Given the description of an element on the screen output the (x, y) to click on. 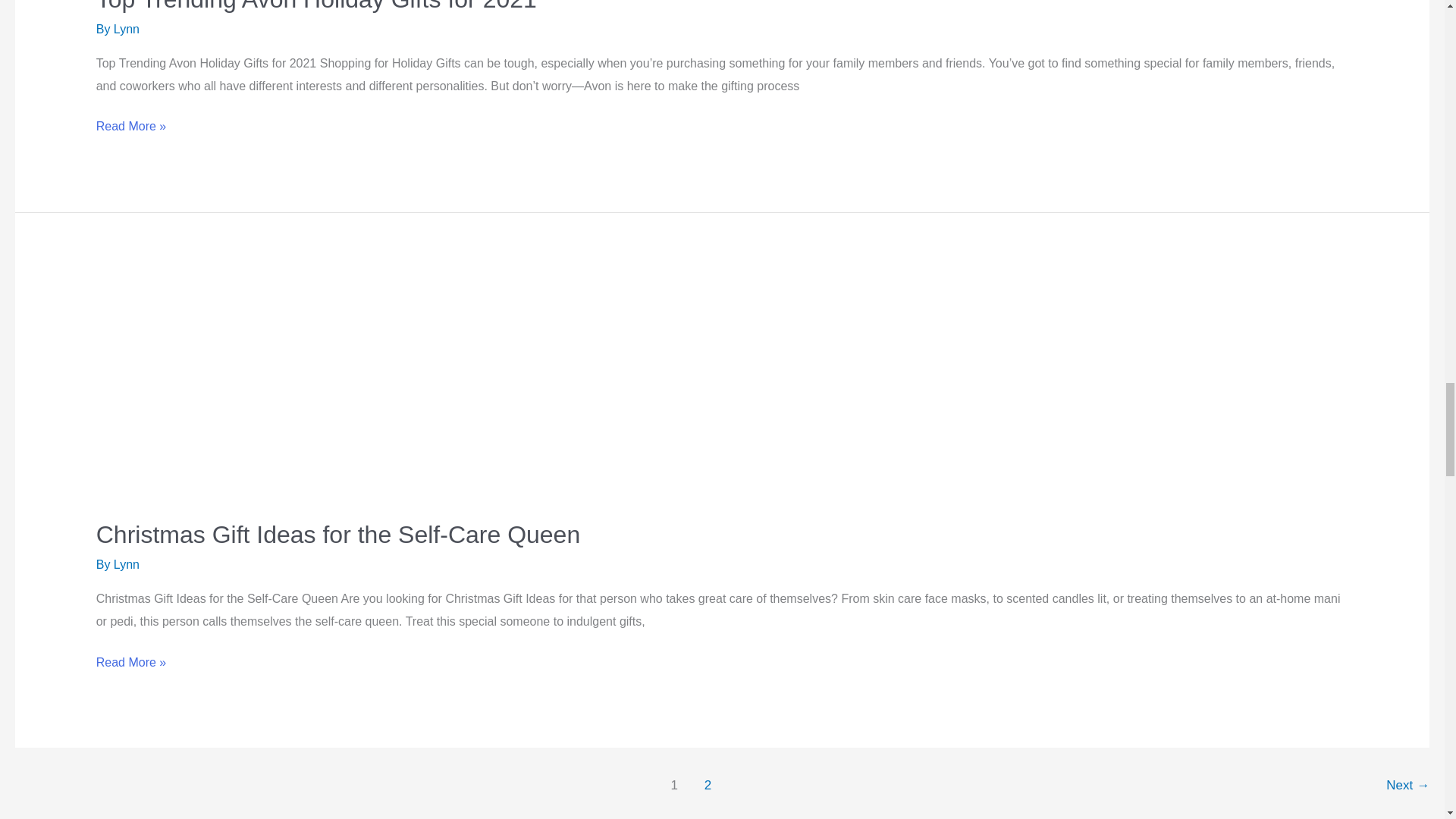
View all posts by Lynn (126, 563)
Christmas Gift Ideas for the Self-Care Queen (337, 533)
Lynn (126, 563)
Lynn (126, 29)
View all posts by Lynn (126, 29)
Top Trending Avon Holiday Gifts for 2021 (316, 6)
